Given the description of an element on the screen output the (x, y) to click on. 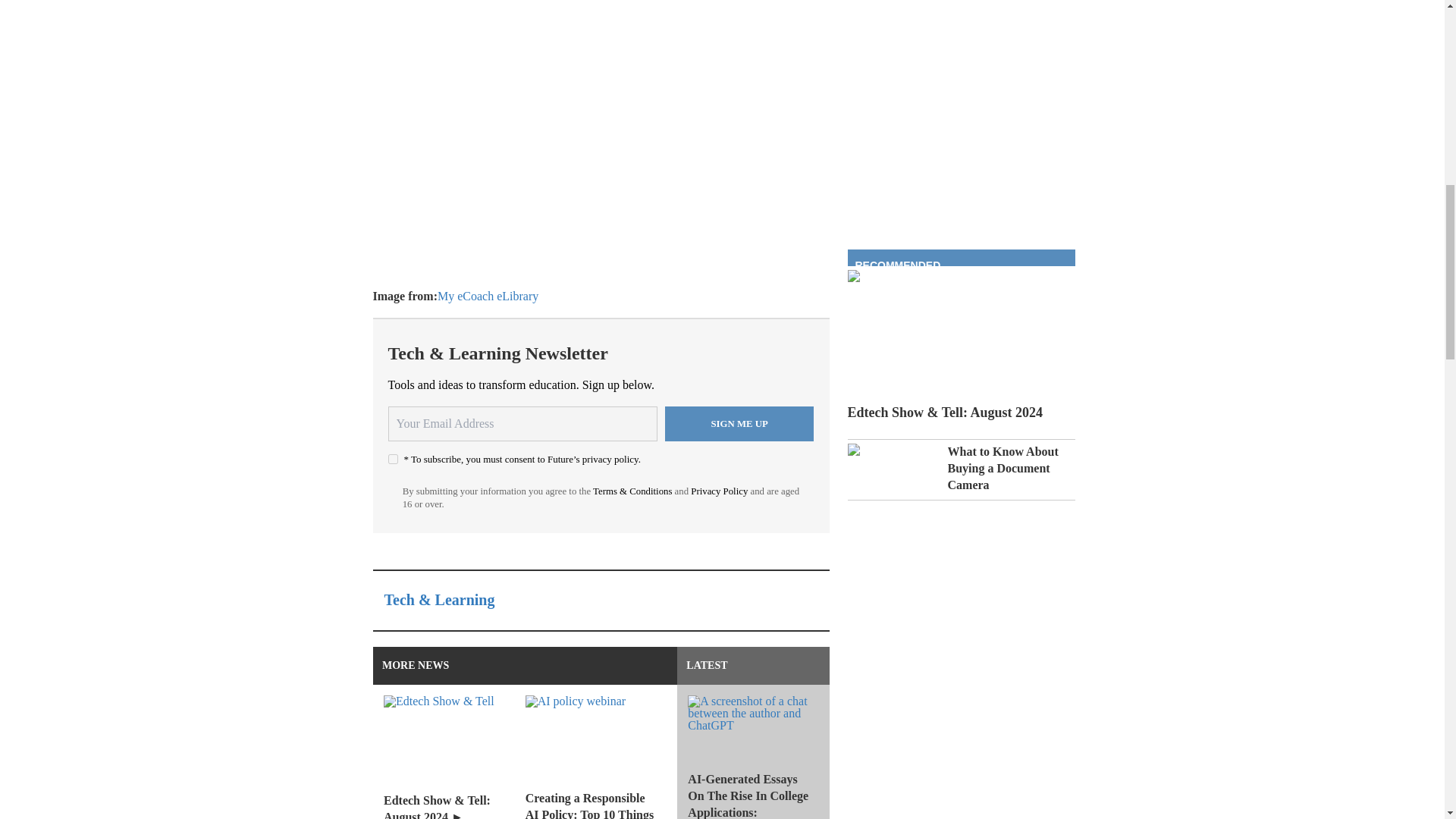
Privacy Policy (719, 491)
Sign me up (739, 423)
Sign me up (739, 423)
My eCoach eLibrary (488, 295)
on (392, 459)
